Given the description of an element on the screen output the (x, y) to click on. 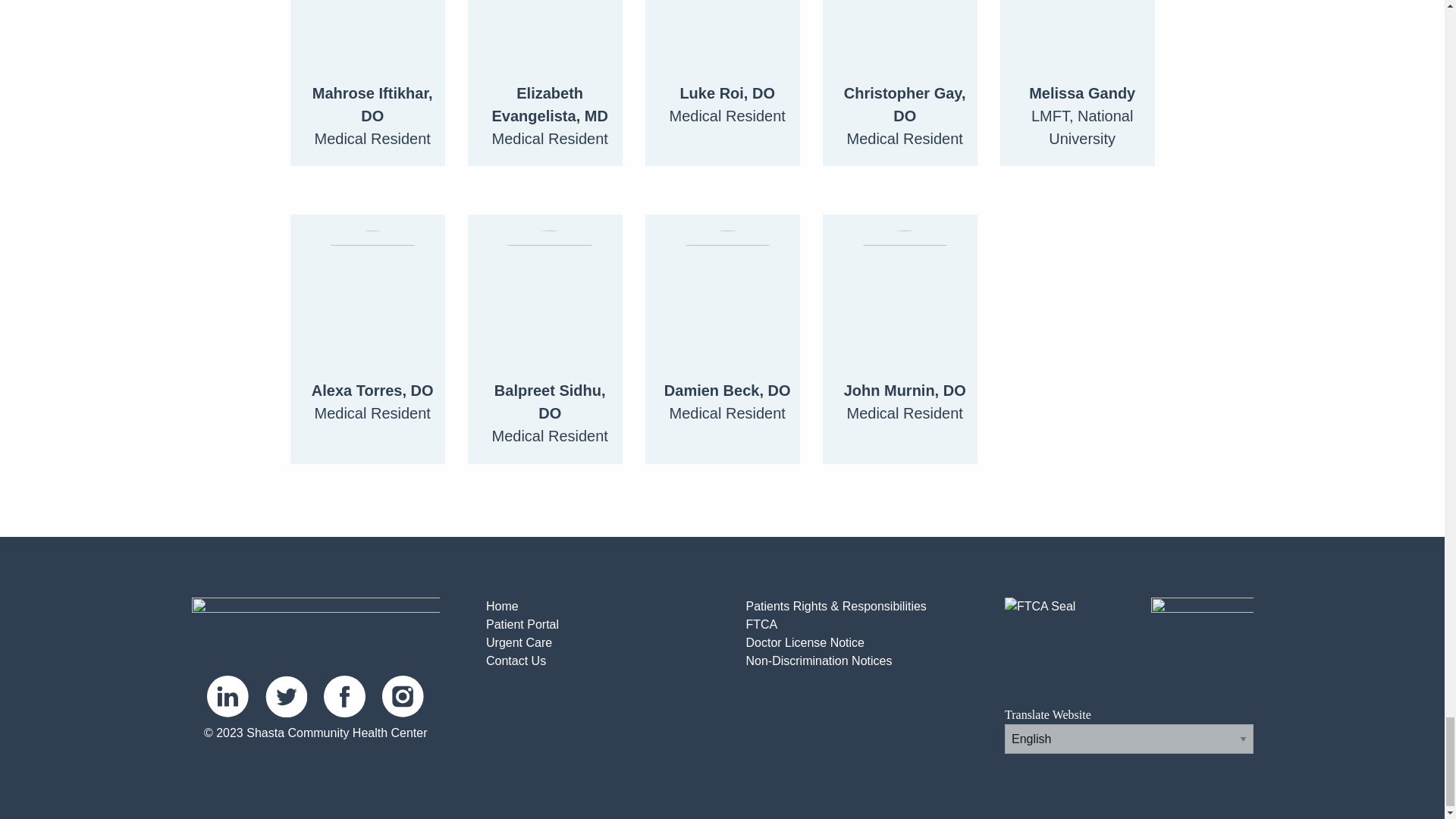
Instagram (402, 696)
Facebook (344, 696)
Linkedin (227, 696)
Twitter (285, 696)
